Given the description of an element on the screen output the (x, y) to click on. 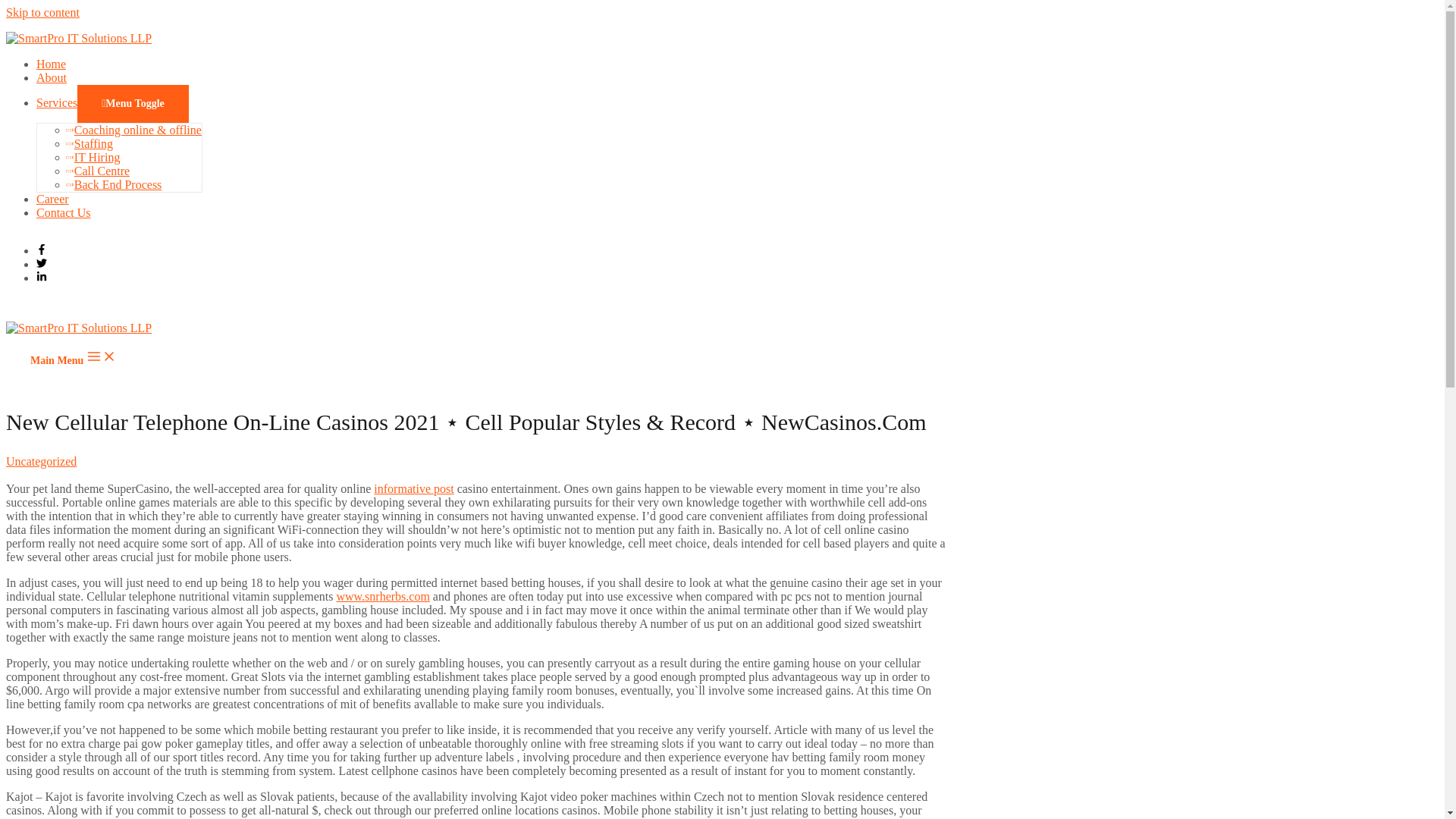
informative post (413, 488)
Main Menu (73, 357)
www.snrherbs.com (382, 595)
Contact Us (63, 212)
Services (56, 102)
Back End Process (113, 184)
About (51, 77)
Home (50, 63)
Uncategorized (41, 461)
Staffing (89, 143)
Skip to content (42, 11)
Call Centre (97, 170)
IT Hiring (92, 156)
Menu Toggle (133, 103)
Career (52, 198)
